Given the description of an element on the screen output the (x, y) to click on. 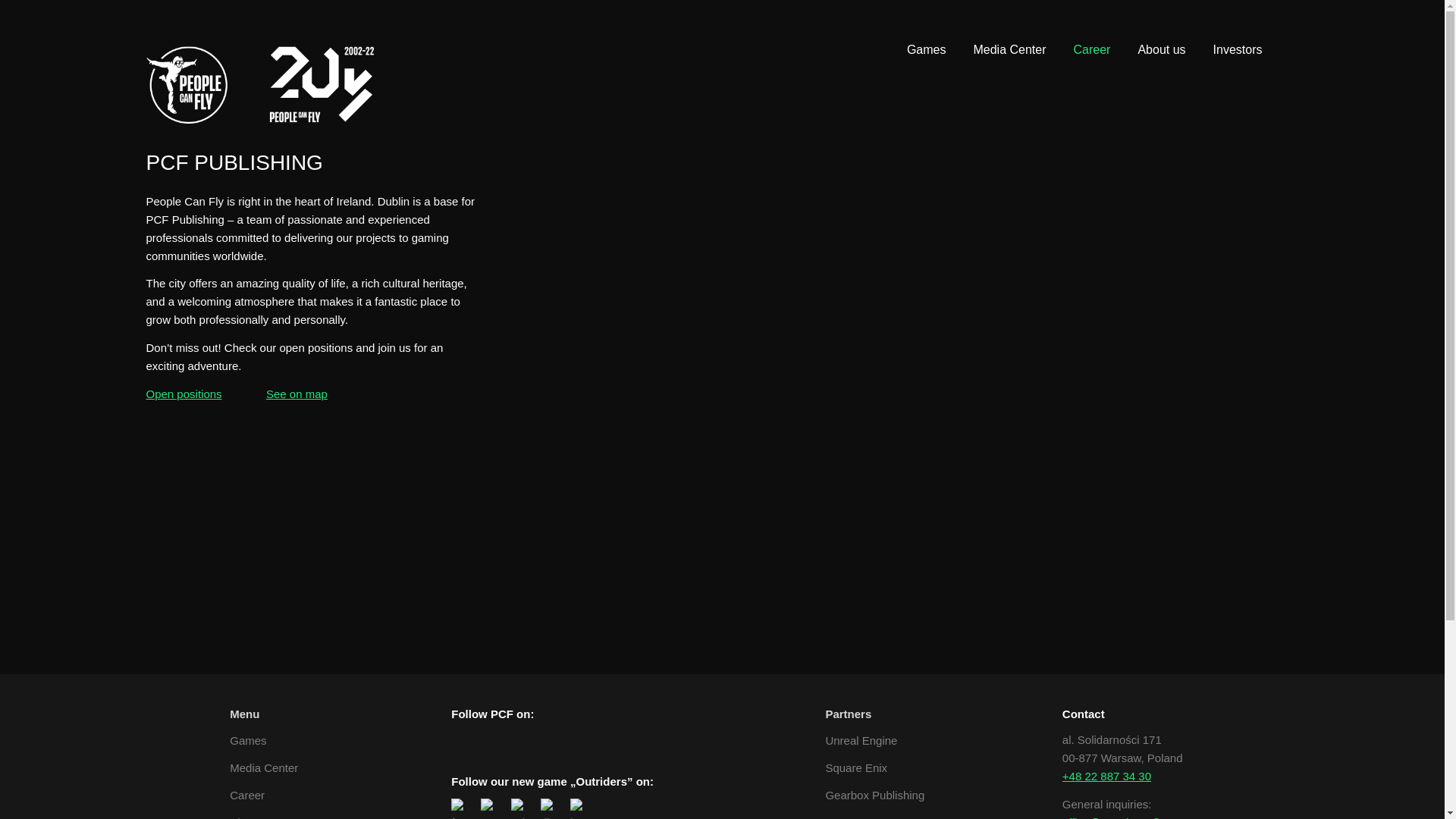
Games (926, 49)
See on map (296, 393)
Facebook (458, 738)
Investors (1237, 49)
Instagram (549, 738)
About us (264, 816)
Twitter (1244, 22)
Games (264, 741)
Facebook (1199, 22)
Open positions (183, 393)
Youtube (1290, 22)
Unreal Engine (874, 741)
LinkedIn (1222, 22)
logo-3 (258, 84)
Media Center (1009, 49)
